Given the description of an element on the screen output the (x, y) to click on. 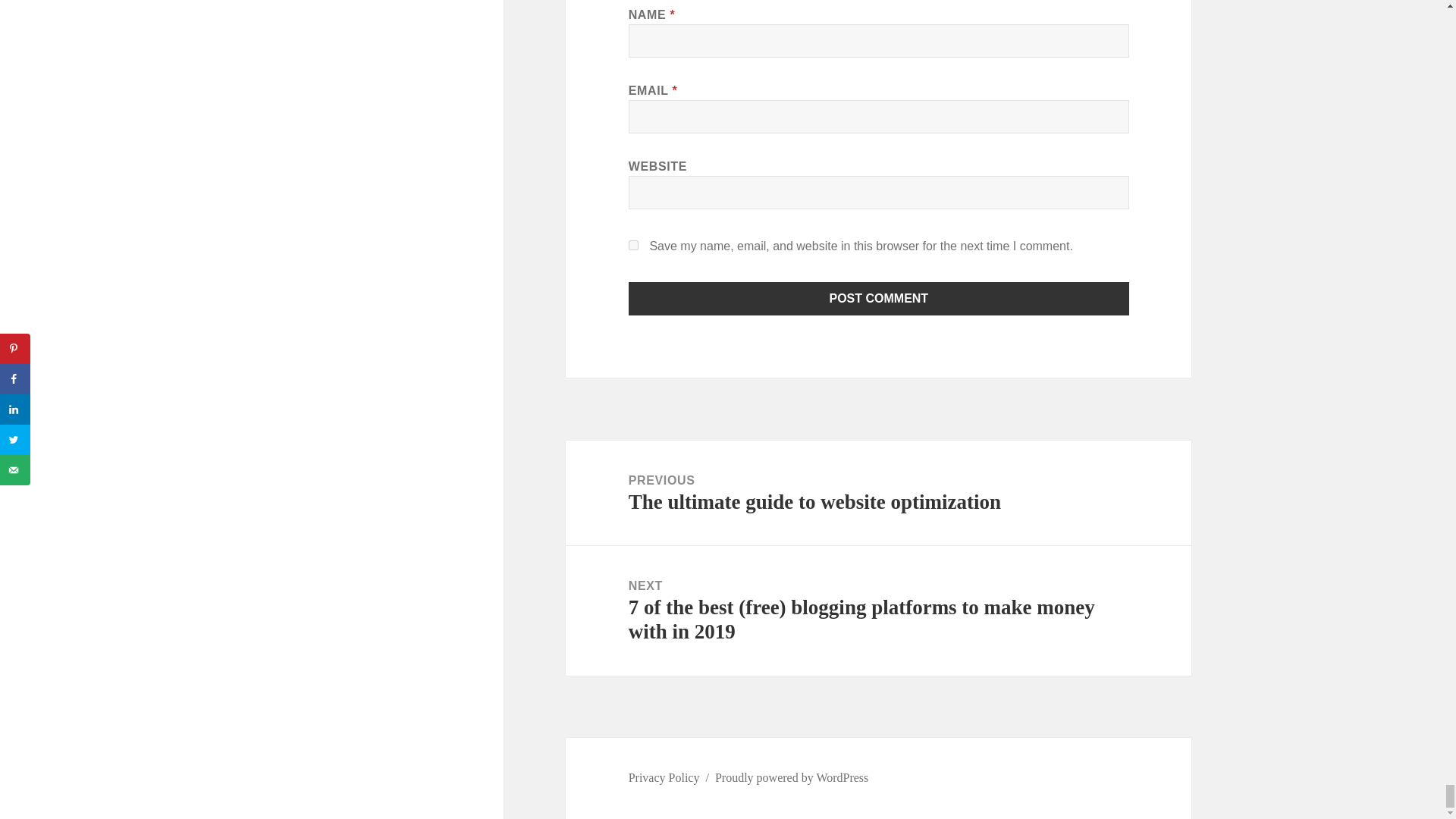
Post Comment (878, 298)
yes (633, 245)
